Given the description of an element on the screen output the (x, y) to click on. 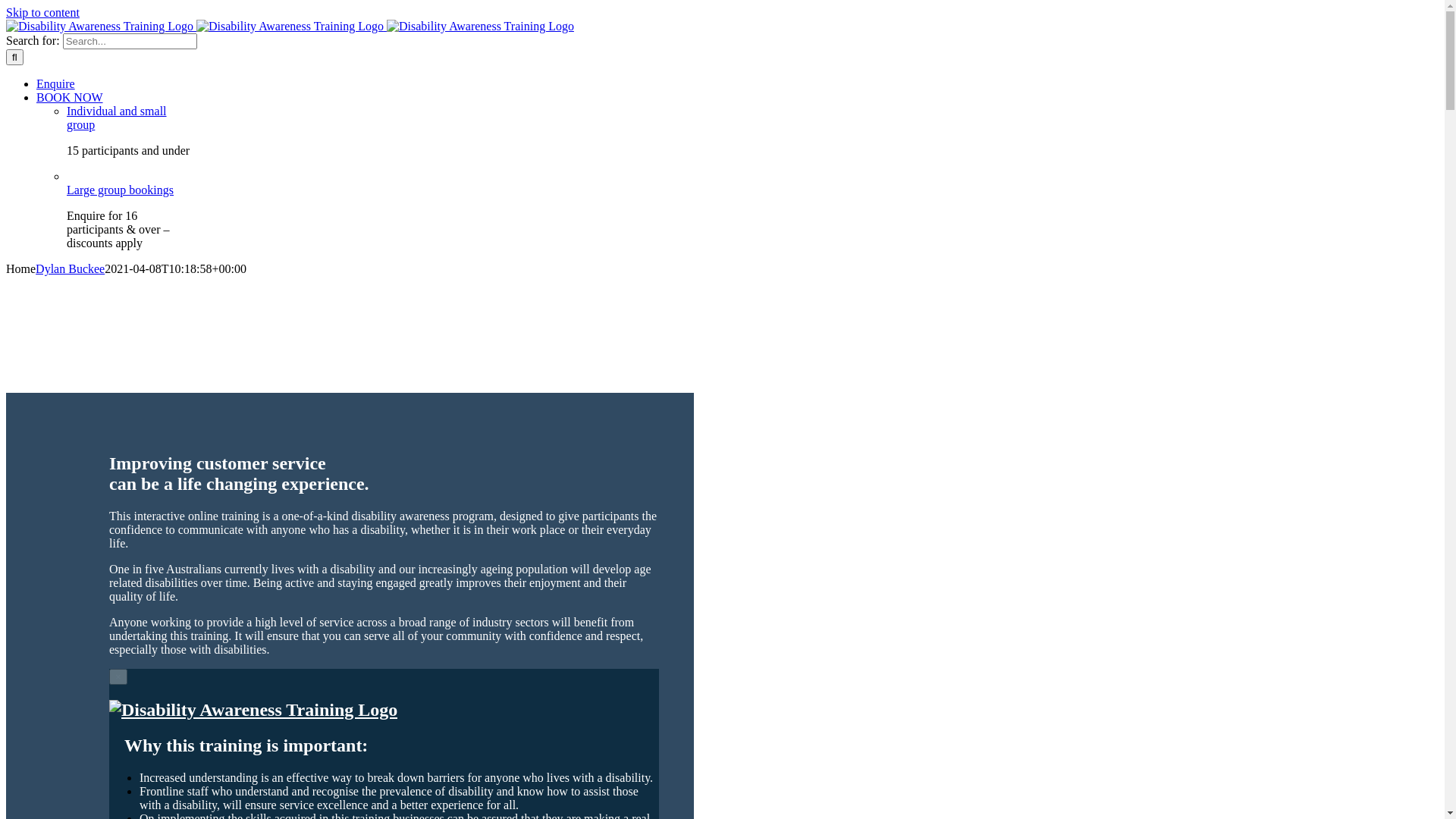
BOOK NOW Element type: text (69, 97)
Large group bookings Element type: text (119, 196)
Dylan Buckee Element type: text (69, 268)
Skip to content Element type: text (42, 12)
Enquire Element type: text (55, 83)
Individual and small group Element type: text (116, 117)
